Given the description of an element on the screen output the (x, y) to click on. 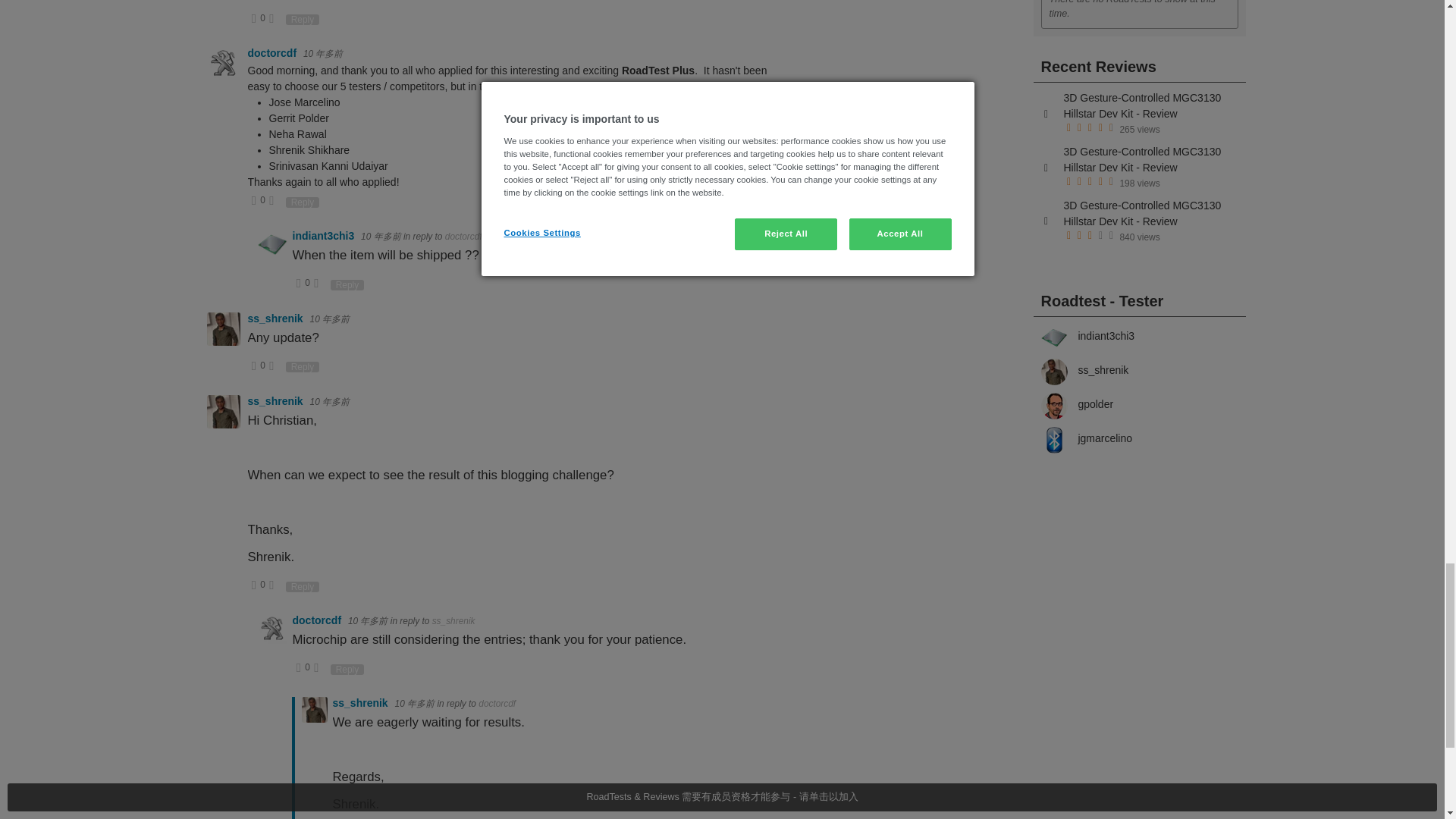
Review (1046, 167)
Review (1046, 113)
Review (1046, 221)
